Given the description of an element on the screen output the (x, y) to click on. 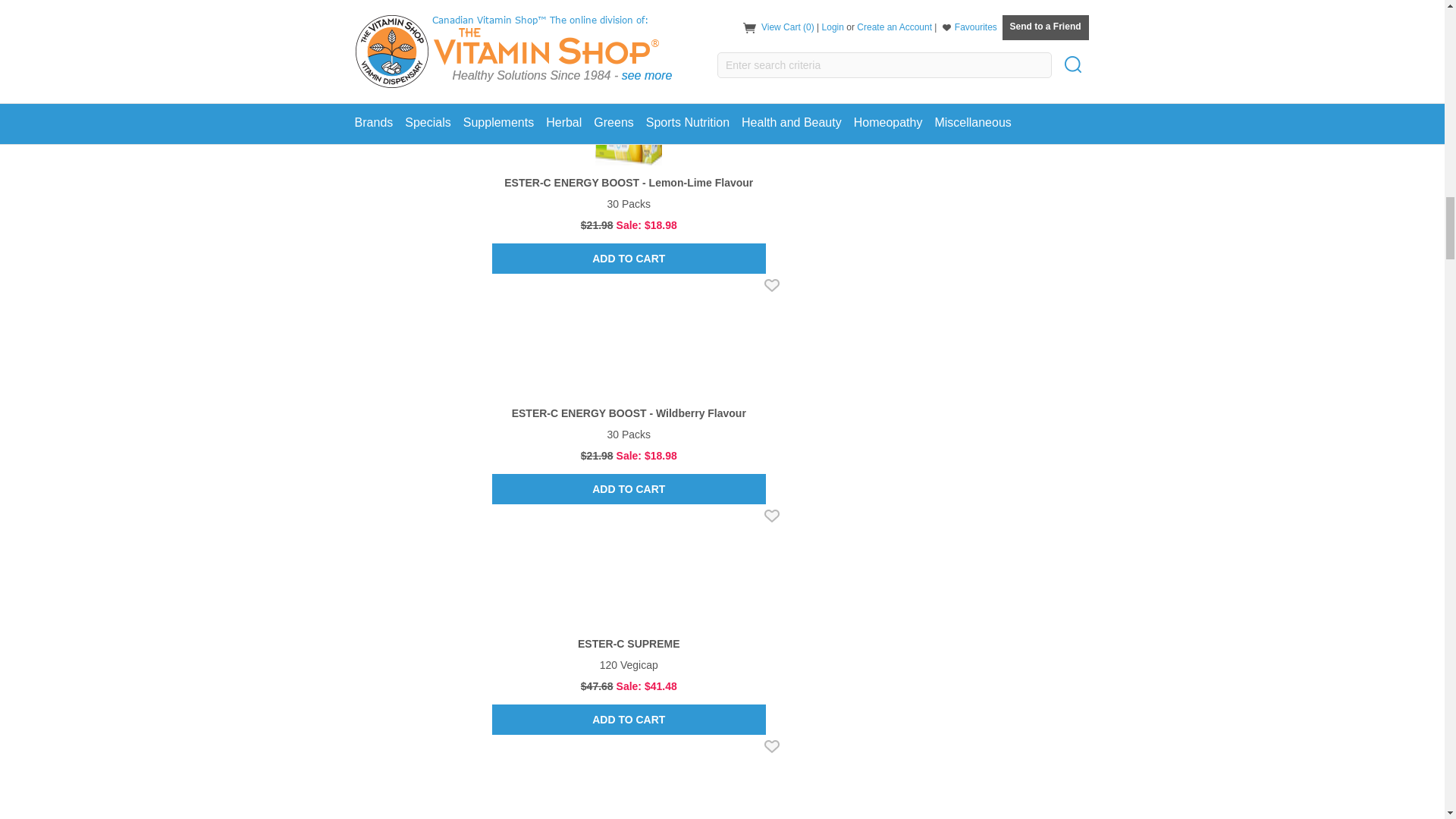
Add to Favourites (771, 515)
Add to Favourites (771, 54)
Add to Favourites (771, 285)
Add to Favourites (771, 746)
